Given the description of an element on the screen output the (x, y) to click on. 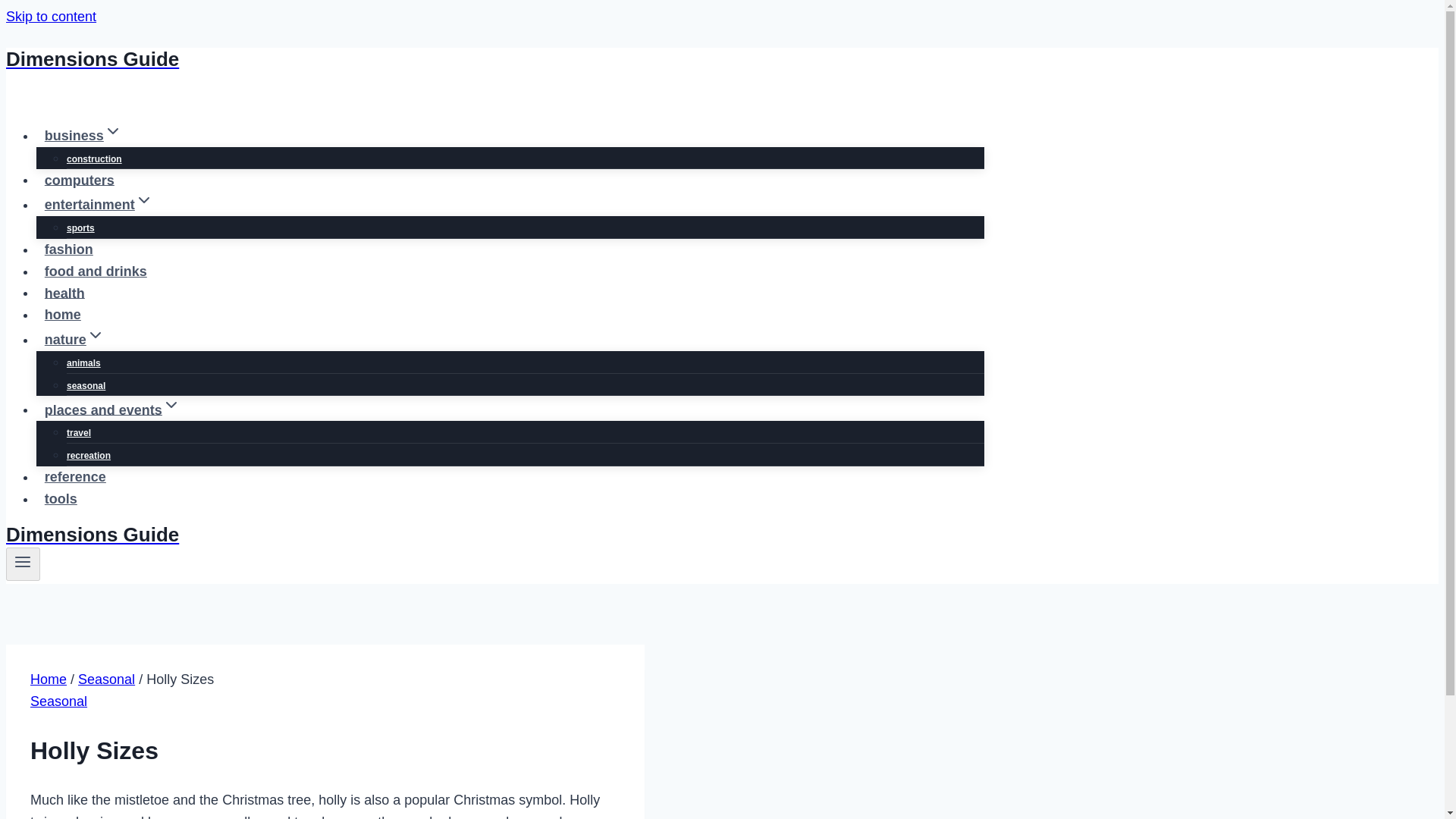
expand (143, 199)
expand (112, 131)
home (62, 314)
expand (94, 334)
food and drinks (95, 271)
Skip to content (50, 16)
tools (60, 499)
Seasonal (106, 679)
Toggle Menu (22, 563)
sports (80, 227)
